Given the description of an element on the screen output the (x, y) to click on. 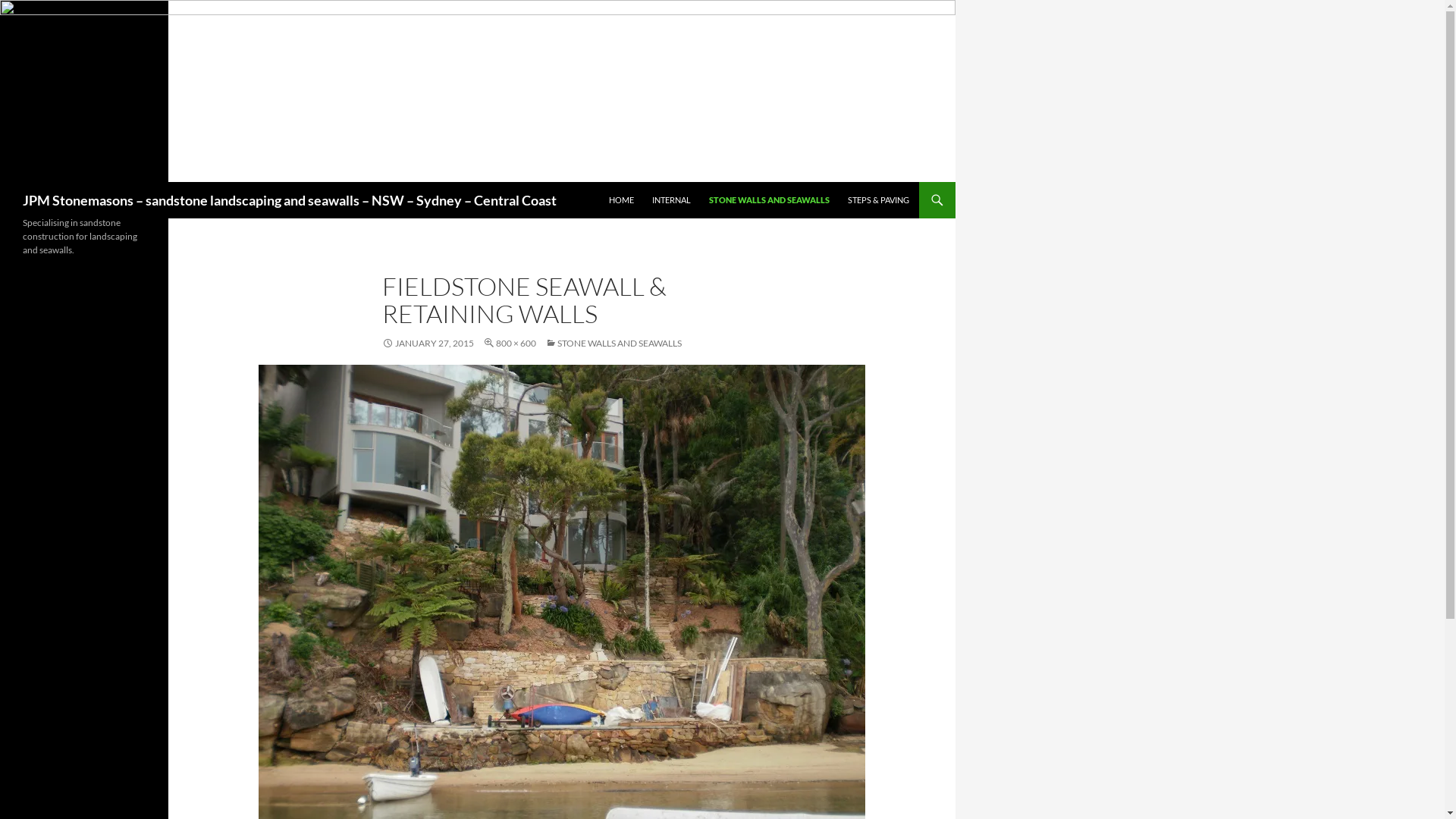
STONE WALLS AND SEAWALLS Element type: text (613, 342)
STONE WALLS AND SEAWALLS Element type: text (768, 200)
HOME Element type: text (621, 200)
SKIP TO CONTENT Element type: text (643, 188)
STEPS & PAVING Element type: text (878, 200)
Search Element type: text (20, 191)
INTERNAL Element type: text (671, 200)
